Given the description of an element on the screen output the (x, y) to click on. 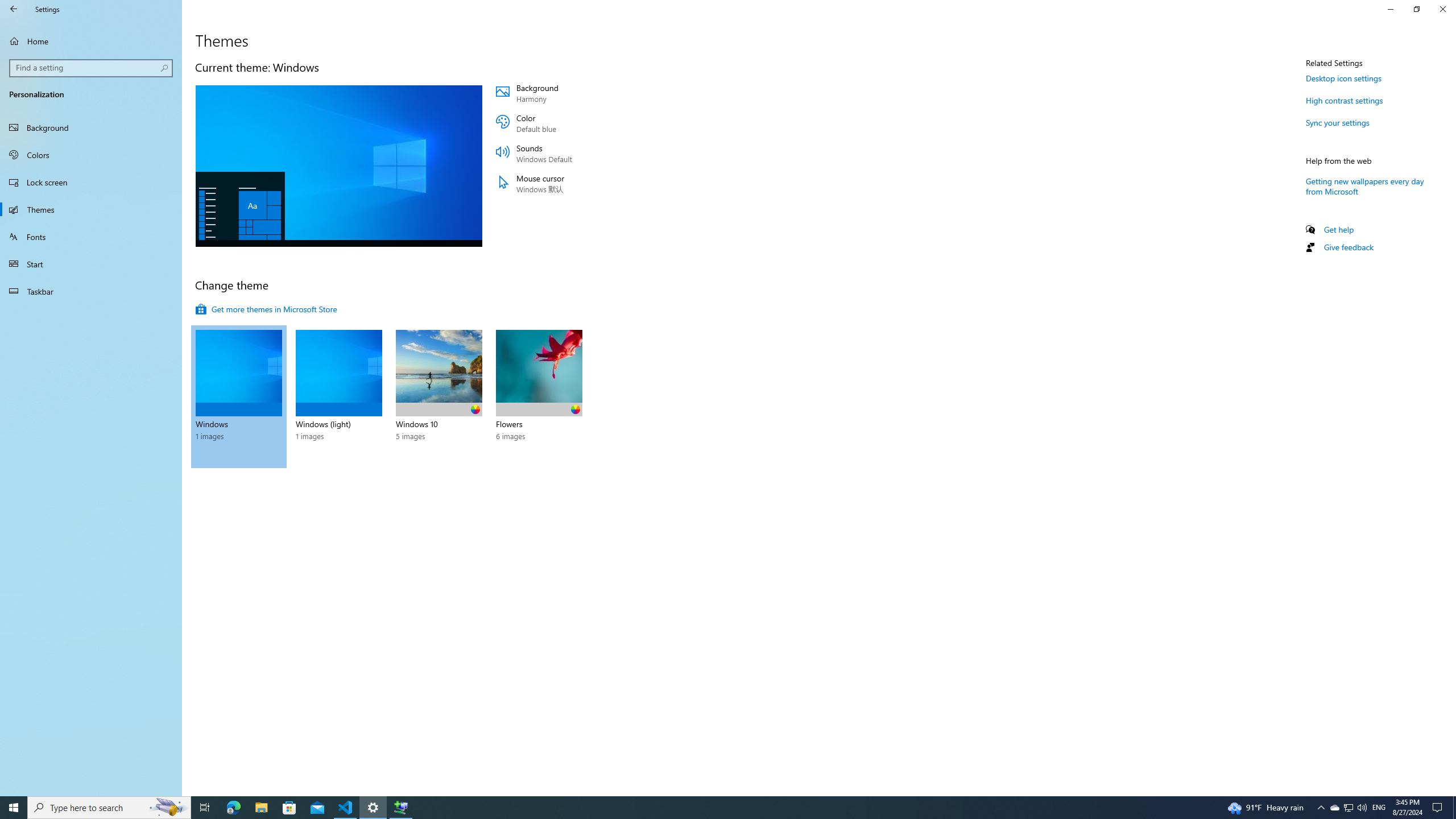
Get help (1338, 229)
Running applications (706, 807)
Settings - 1 running window (373, 807)
